Given the description of an element on the screen output the (x, y) to click on. 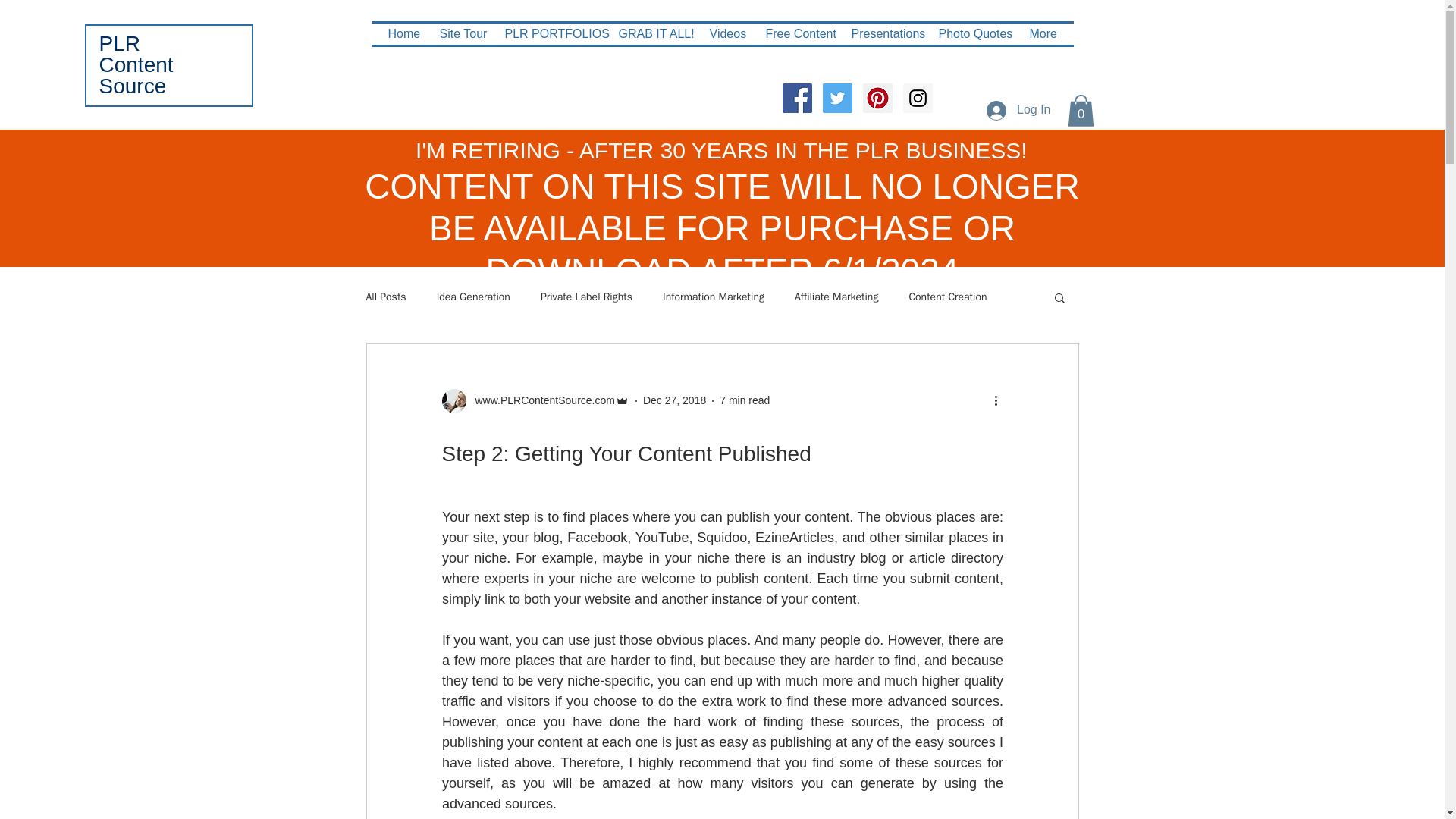
Site Search (490, 98)
Home (403, 34)
www.PLRContentSource.com (539, 400)
Dec 27, 2018 (674, 399)
7 min read (744, 399)
